Given the description of an element on the screen output the (x, y) to click on. 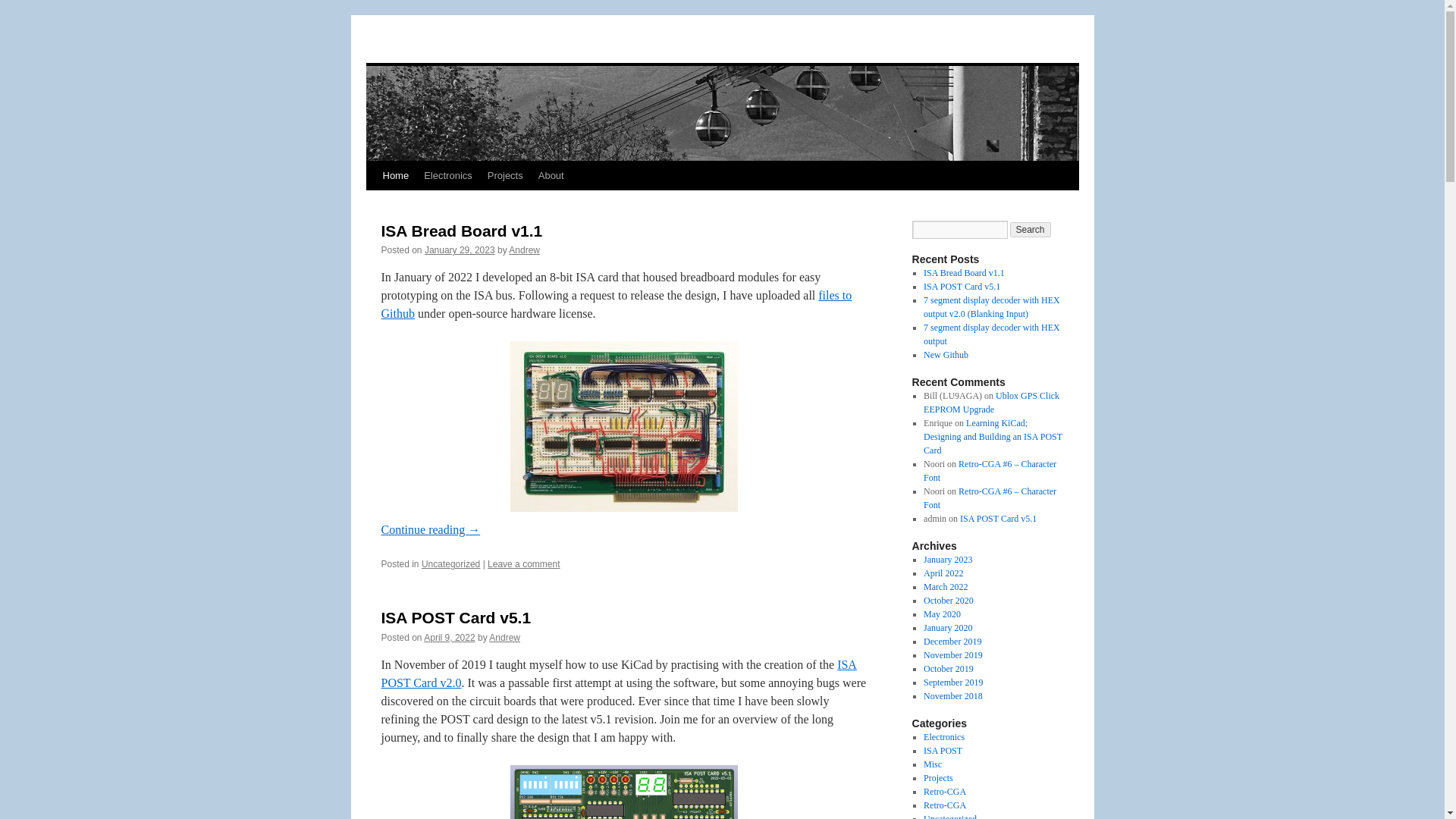
ISA POST Card v2.0 (618, 673)
Andrew (524, 249)
Electronics (448, 175)
Search (1030, 229)
Projects (505, 175)
View all posts by Andrew (524, 249)
2:45 pm (460, 249)
Uncategorized (451, 563)
ISA POST Card v5.1 (455, 617)
About (551, 175)
